Given the description of an element on the screen output the (x, y) to click on. 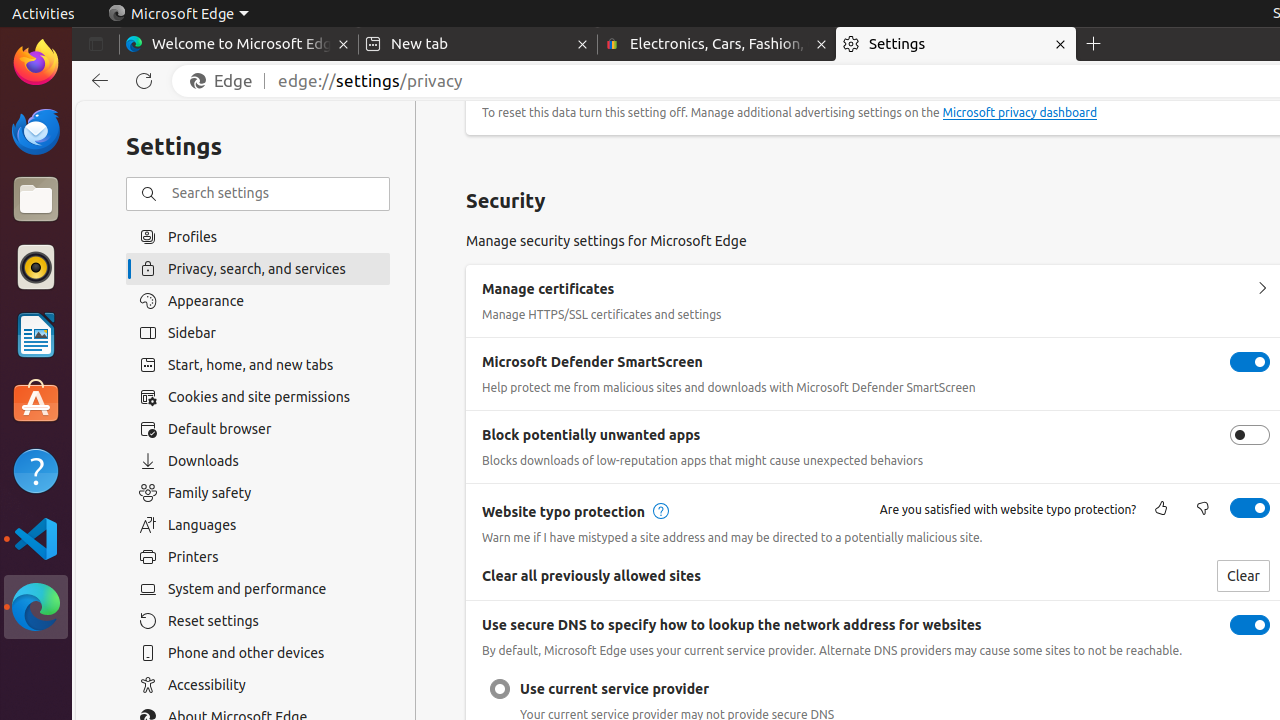
Refresh Element type: push-button (144, 81)
System and performance Element type: tree-item (258, 589)
Microsoft privacy dashboard Element type: link (1020, 113)
